Given the description of an element on the screen output the (x, y) to click on. 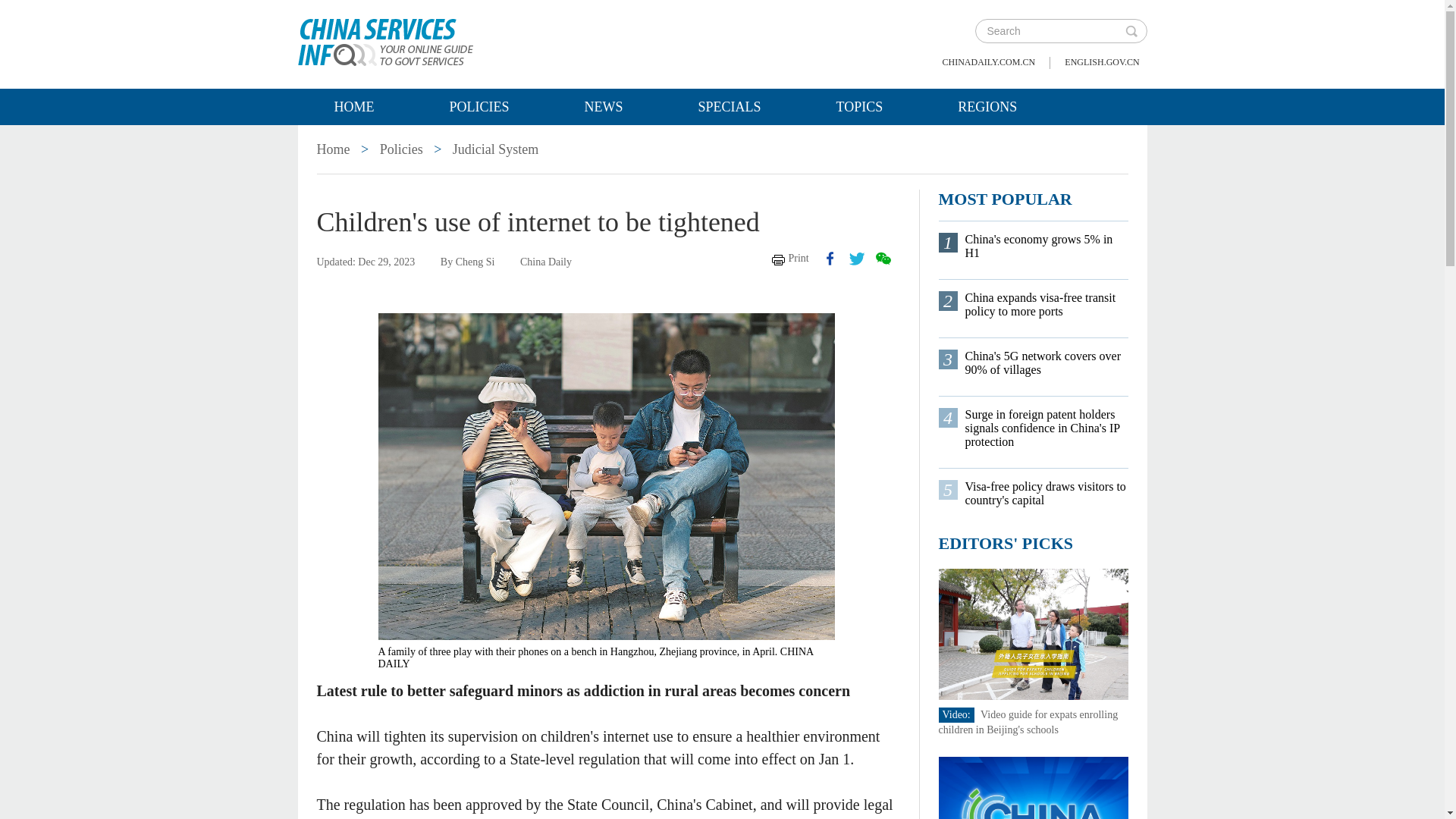
CHINADAILY.COM.CN (988, 61)
HOME (353, 106)
chinadaily.com.cn (988, 61)
Home (353, 106)
NEWS (603, 106)
China expands visa-free transit policy to more ports (1044, 304)
wechat (882, 258)
english.gov.cn (1101, 61)
TOPICS (859, 106)
EDITORS' PICKS (1006, 542)
Print (790, 258)
Policies (401, 149)
Visa-free policy draws visitors to country's capital (1044, 492)
